Given the description of an element on the screen output the (x, y) to click on. 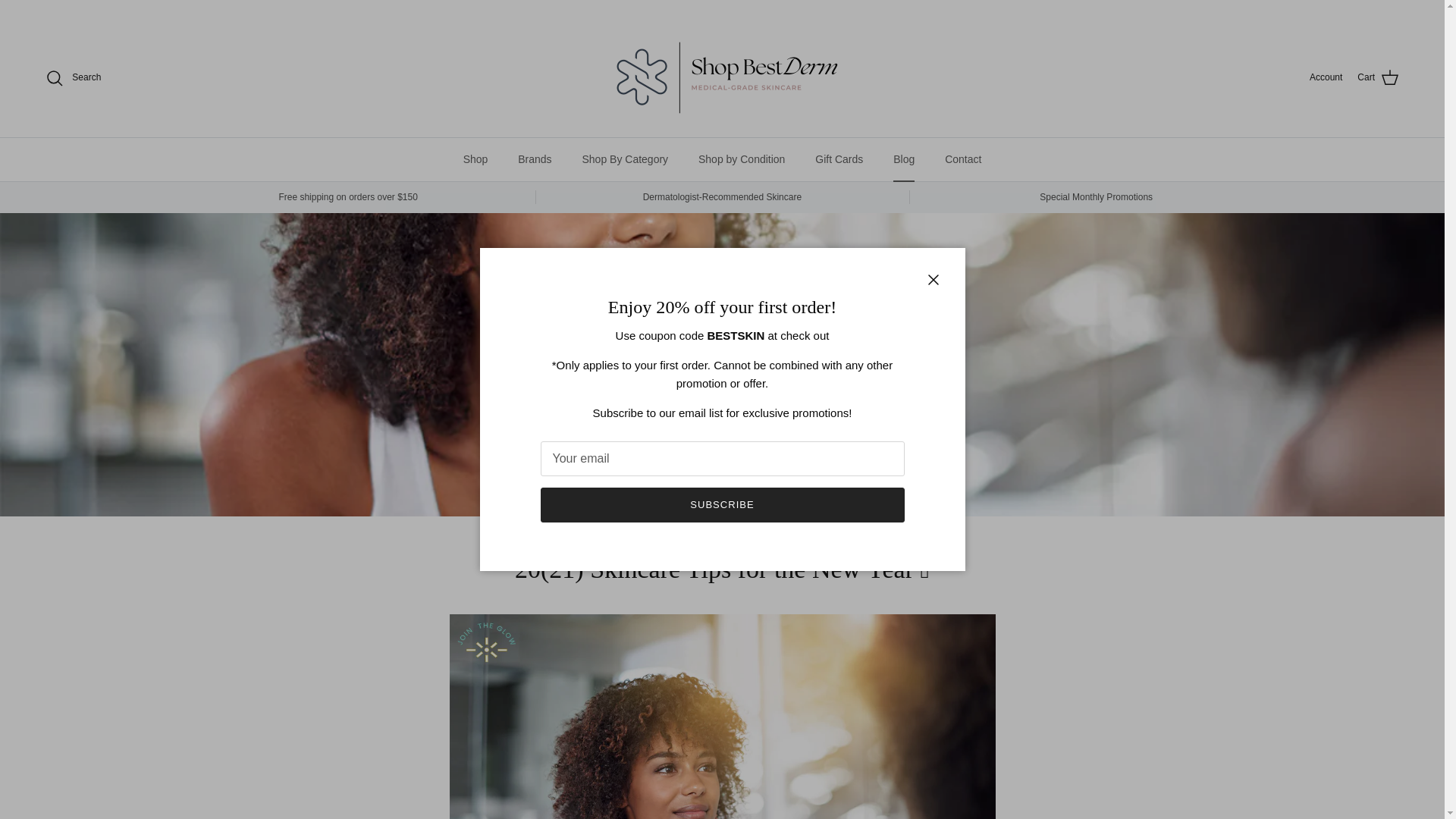
Shop by Condition (740, 159)
Account (1325, 77)
Cart (1377, 77)
Search (72, 76)
Shop By Category (624, 159)
Shop BestDerm (721, 77)
Shop (475, 159)
Brands (533, 159)
